Given the description of an element on the screen output the (x, y) to click on. 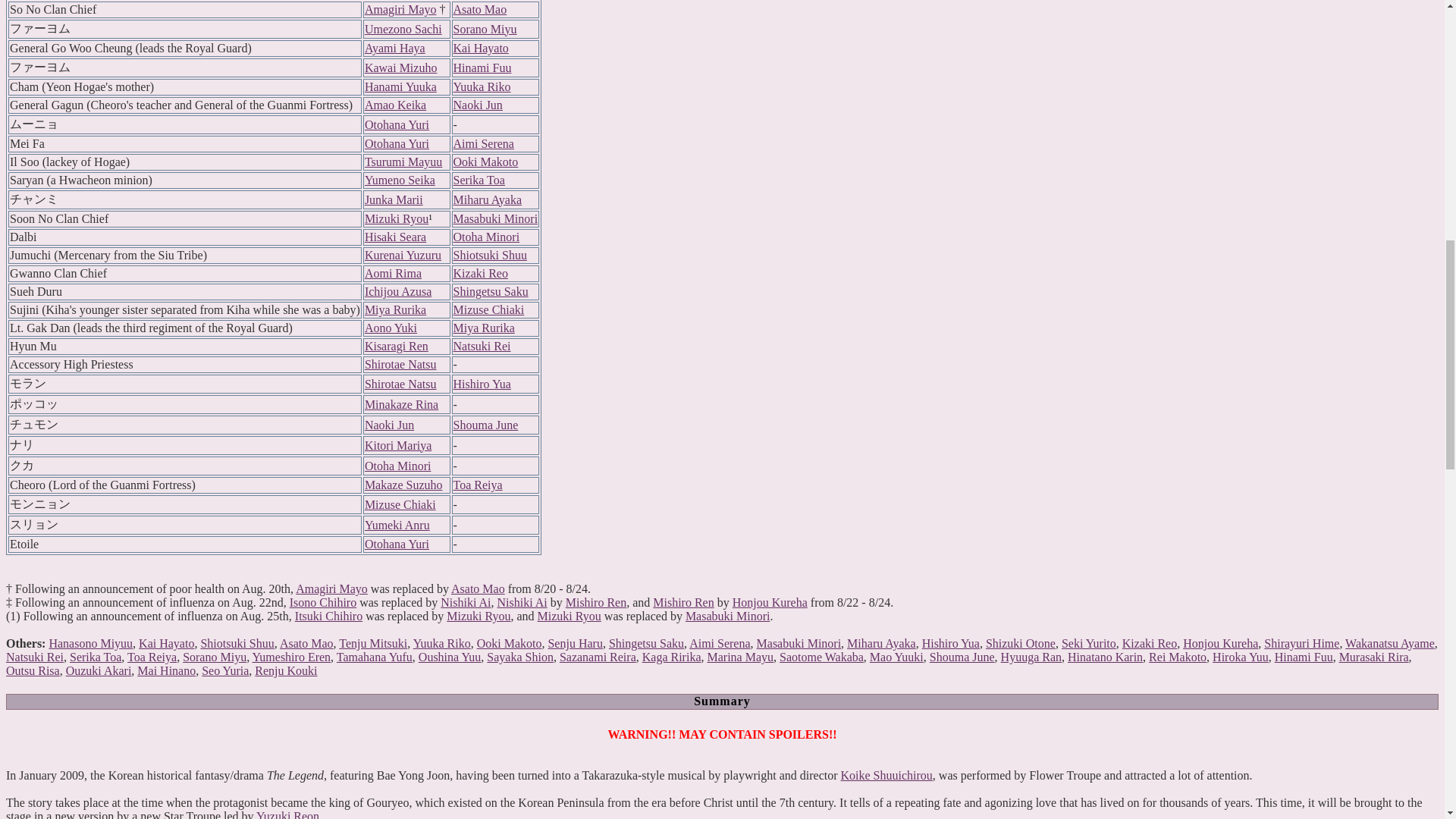
Asato Mao (479, 9)
Sorano Miyu (484, 29)
Ayami Haya (395, 47)
Umezono Sachi (403, 29)
Amagiri Mayo (400, 9)
Kawai Mizuho (401, 66)
Kai Hayato (480, 47)
